Given the description of an element on the screen output the (x, y) to click on. 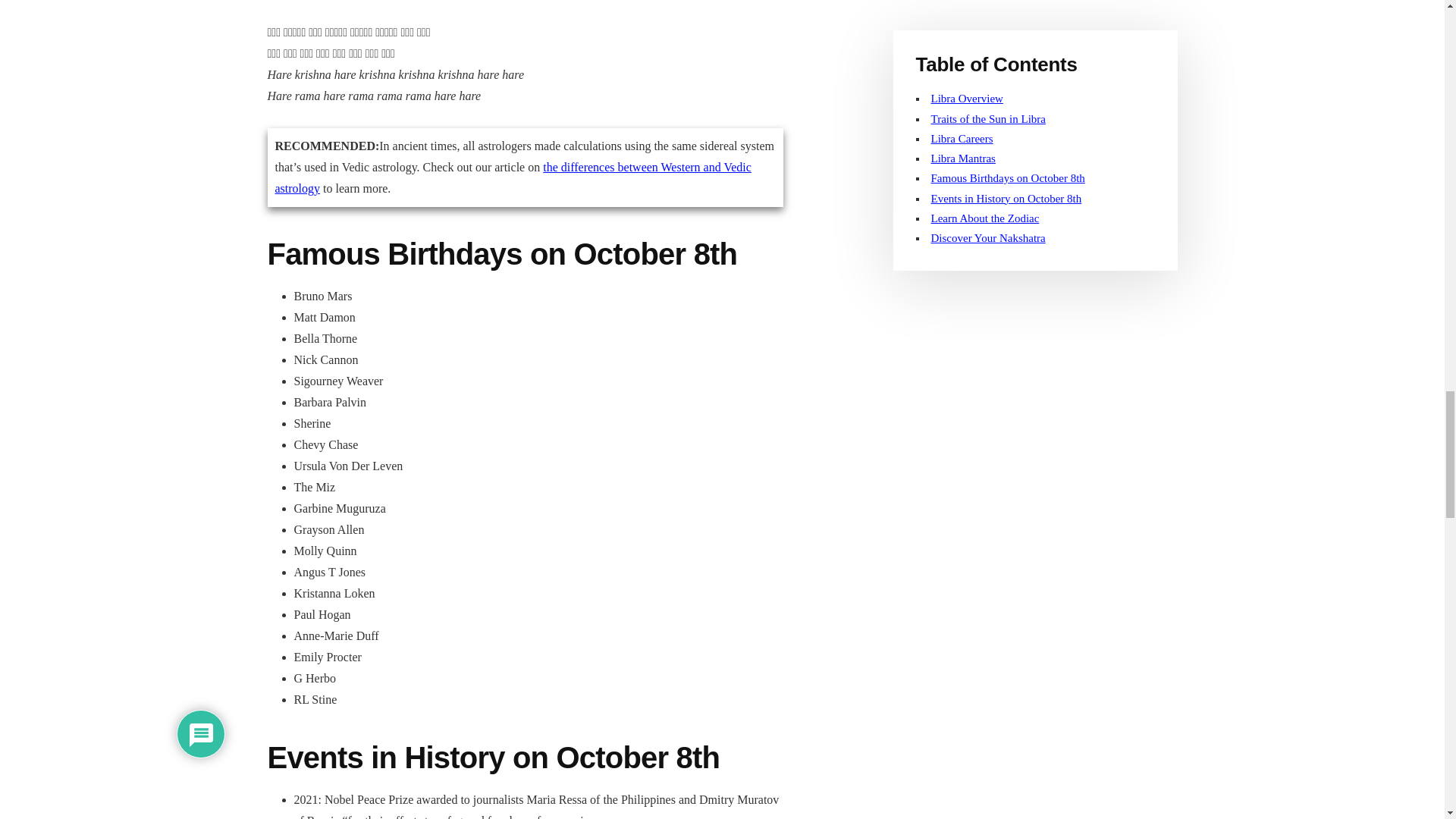
the differences between Western and Vedic astrology (513, 177)
